Given the description of an element on the screen output the (x, y) to click on. 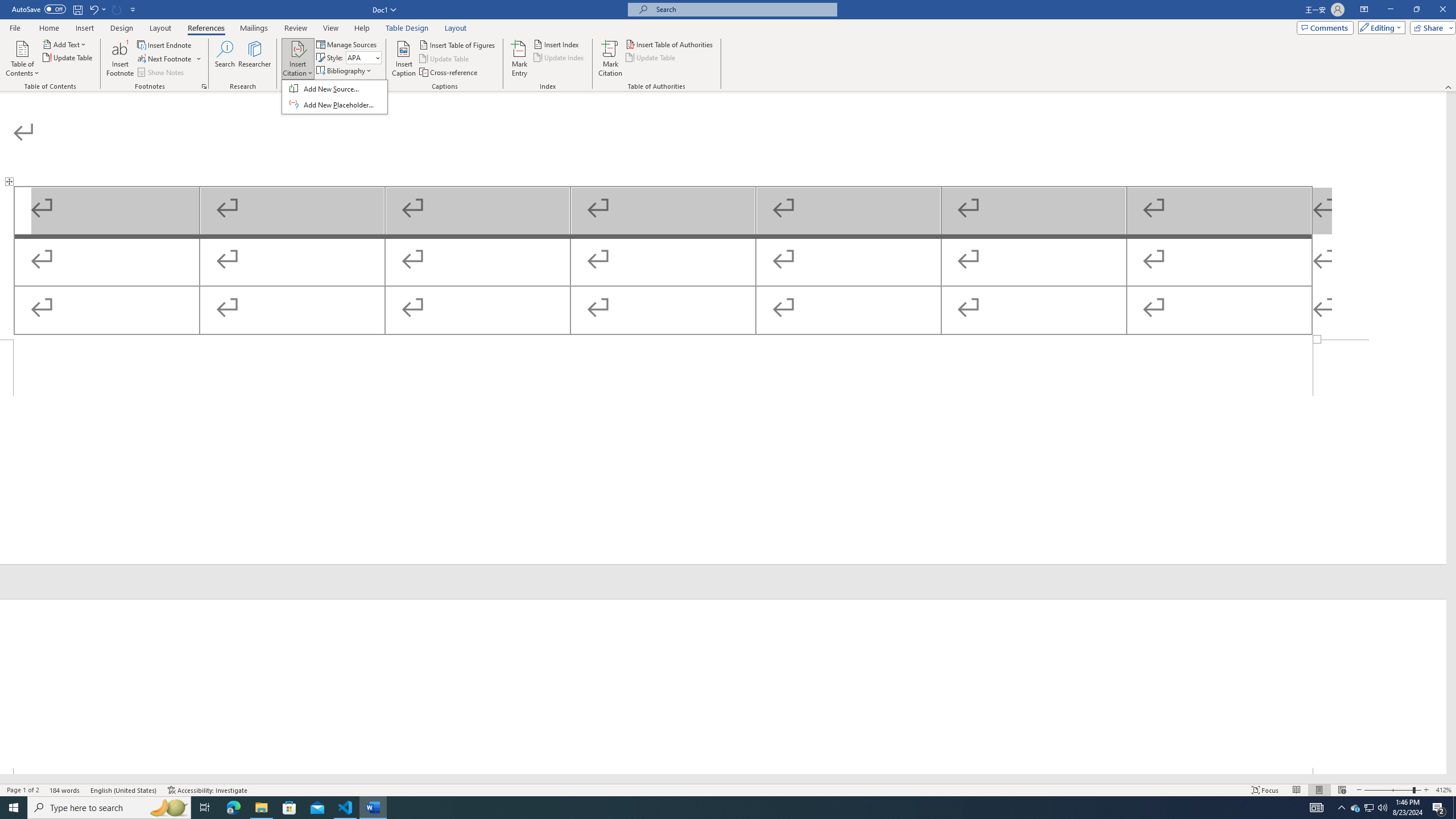
Update Table... (68, 56)
Action Center, 2 new notifications (1439, 807)
Zoom (1392, 790)
Insert Citation (297, 58)
Search highlights icon opens search home window (167, 807)
Researcher (254, 58)
Language English (United States) (123, 790)
Editing (1379, 27)
&Insert Citation (334, 96)
